Given the description of an element on the screen output the (x, y) to click on. 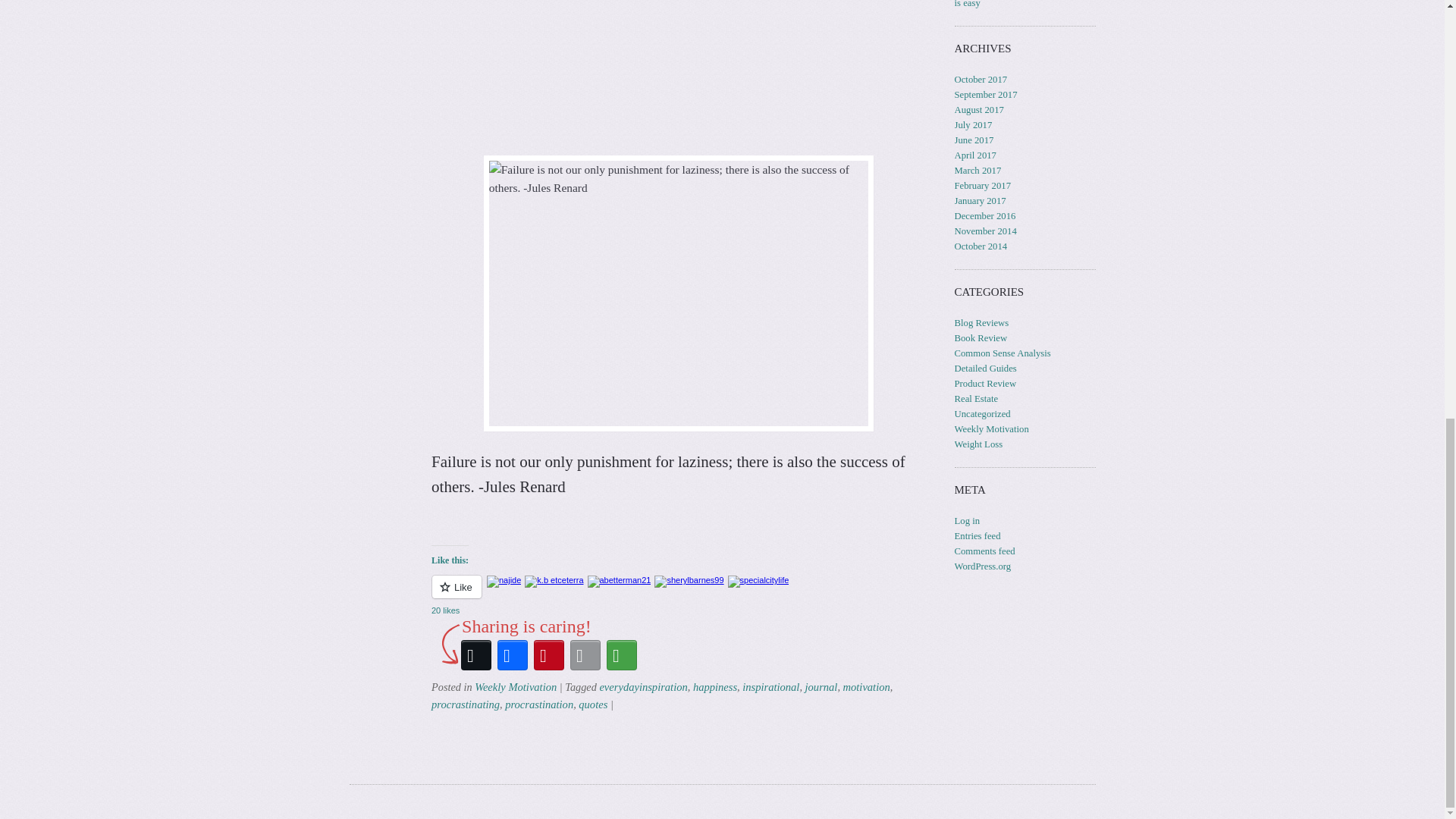
journal (821, 686)
procrastinating (464, 704)
Email This (585, 655)
Advertisement (677, 69)
Facebook (513, 655)
everydayinspiration (642, 686)
Weekly Motivation (515, 686)
motivation (866, 686)
Like or Reblog (677, 595)
happiness (714, 686)
procrastination (539, 704)
inspirational (770, 686)
quotes (592, 704)
Pinterest (549, 655)
